Given the description of an element on the screen output the (x, y) to click on. 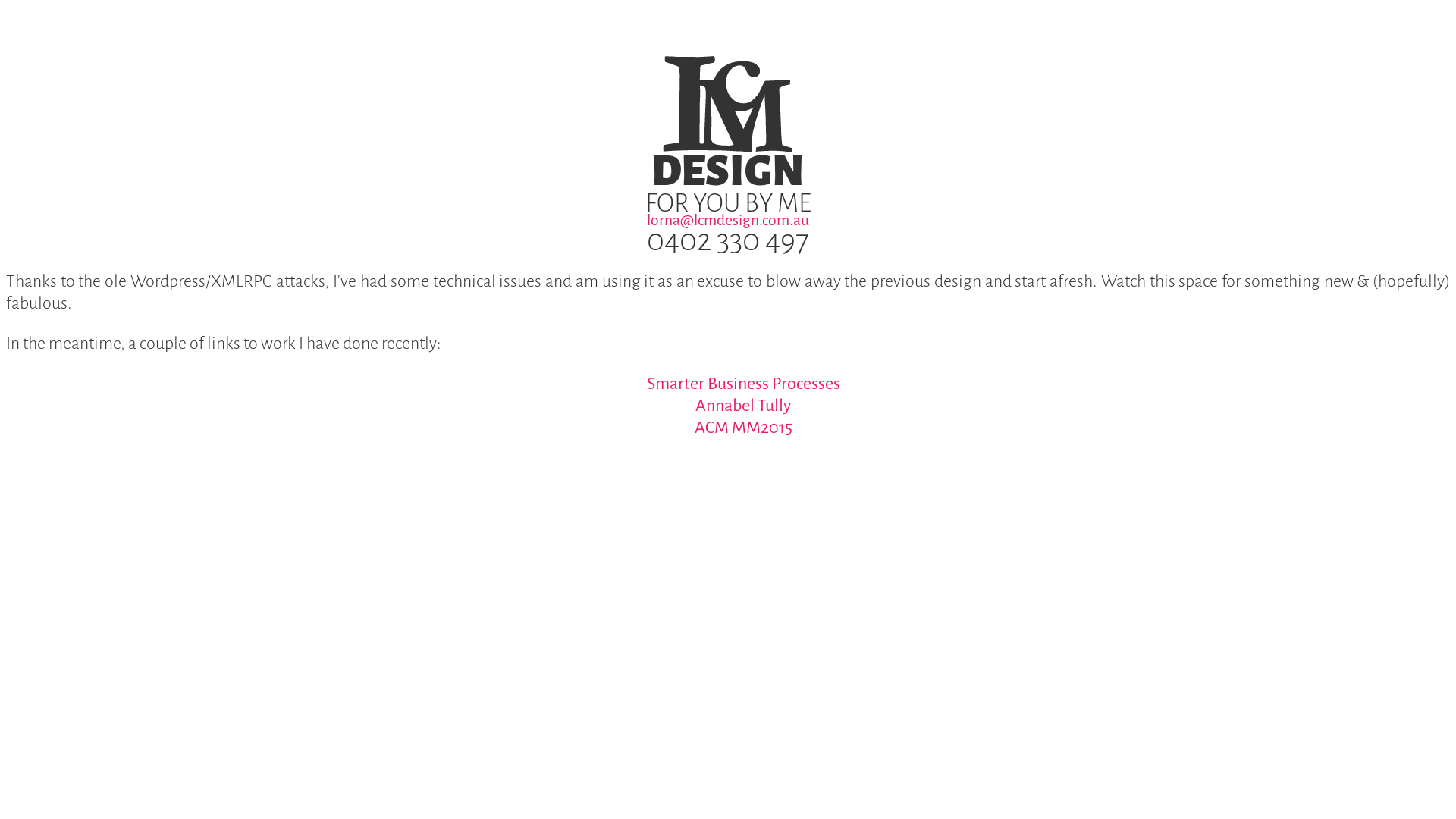
lorna@lcmdesign.com.au Element type: text (727, 220)
Smarter Business Processes Element type: text (742, 383)
Annabel Tully Element type: text (742, 405)
ACM MM2015 Element type: text (743, 427)
